Given the description of an element on the screen output the (x, y) to click on. 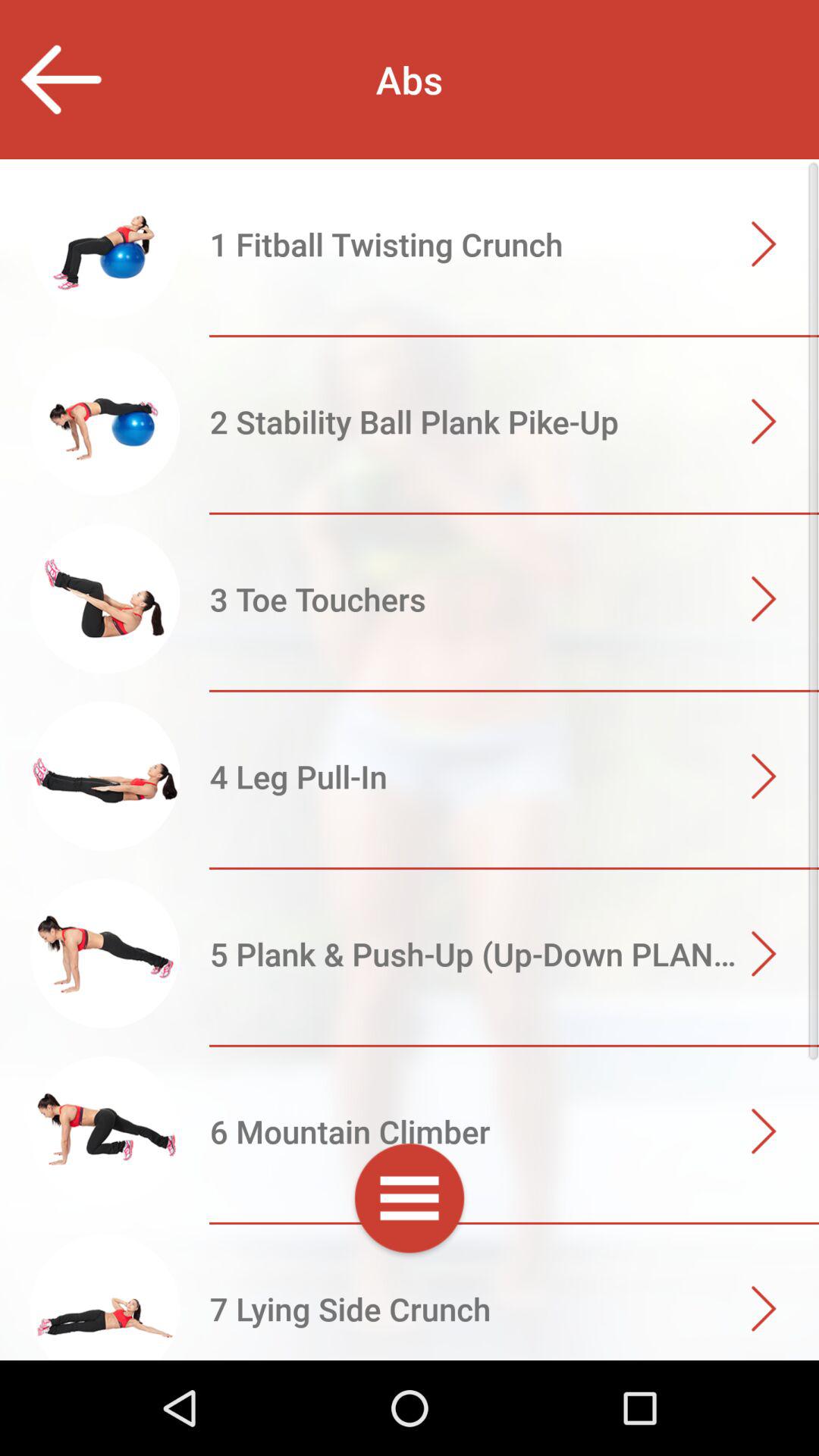
back page (59, 79)
